Given the description of an element on the screen output the (x, y) to click on. 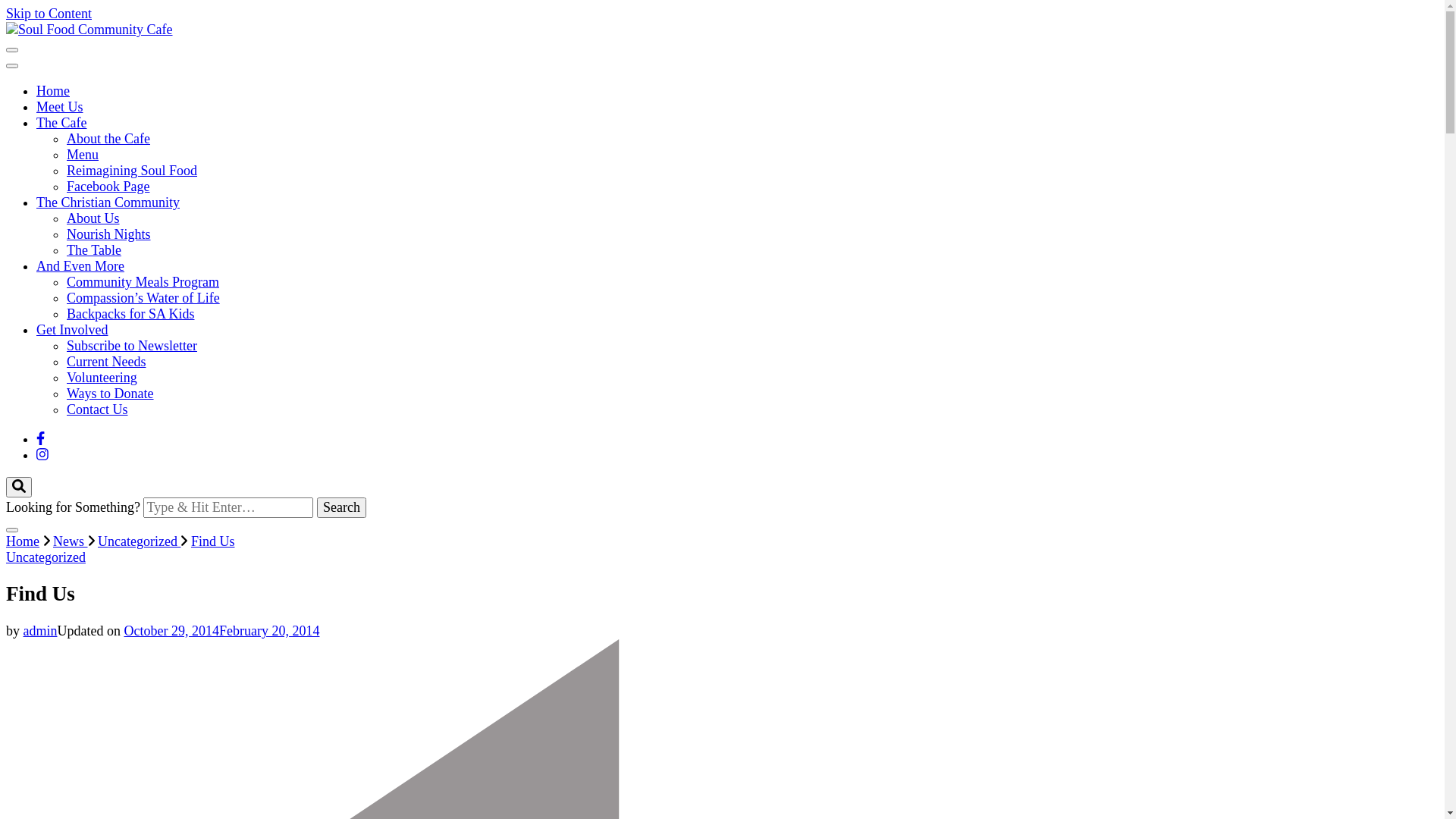
Search Element type: text (341, 507)
And Even More Element type: text (80, 265)
Get Involved Element type: text (71, 329)
About Us Element type: text (92, 217)
Subscribe to Newsletter Element type: text (131, 345)
Meet Us Element type: text (59, 106)
Uncategorized Element type: text (138, 541)
About the Cafe Element type: text (108, 138)
Menu Element type: text (82, 154)
Find Us Element type: text (213, 541)
The Table Element type: text (93, 249)
The Christian Community Element type: text (107, 202)
Backpacks for SA Kids Element type: text (130, 313)
Skip to Content Element type: text (48, 13)
Home Element type: text (52, 90)
Nourish Nights Element type: text (108, 233)
Volunteering Element type: text (101, 377)
Ways to Donate Element type: text (109, 393)
Current Needs Element type: text (105, 361)
Reimagining Soul Food Element type: text (131, 170)
Uncategorized Element type: text (45, 556)
October 29, 2014February 20, 2014 Element type: text (221, 630)
Soul Food Community Cafe Element type: text (145, 73)
News Element type: text (70, 541)
admin Element type: text (39, 630)
The Cafe Element type: text (61, 122)
Contact Us Element type: text (97, 409)
Home Element type: text (22, 541)
Facebook Page Element type: text (107, 186)
Community Meals Program Element type: text (142, 281)
